Given the description of an element on the screen output the (x, y) to click on. 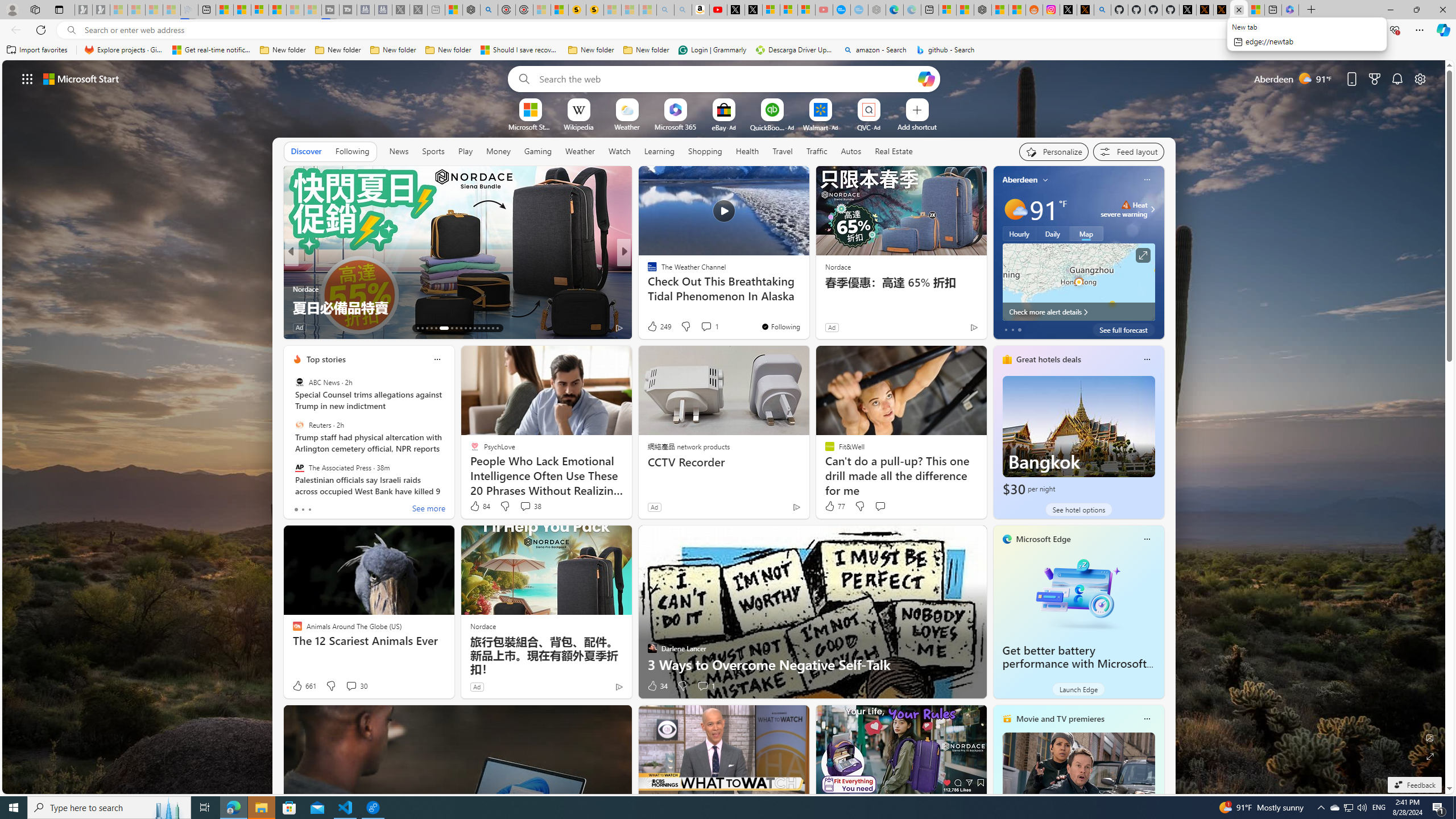
Restore (1416, 9)
Traffic (816, 151)
Back (13, 29)
View comments 38 Comment (525, 505)
View comments 5 Comment (702, 327)
Bolde Media (647, 270)
Personalize your feed" (1054, 151)
The most popular Google 'how to' searches - Sleeping (859, 9)
News (398, 151)
Start the conversation (880, 505)
AutomationID: tab-27 (488, 328)
